Given the description of an element on the screen output the (x, y) to click on. 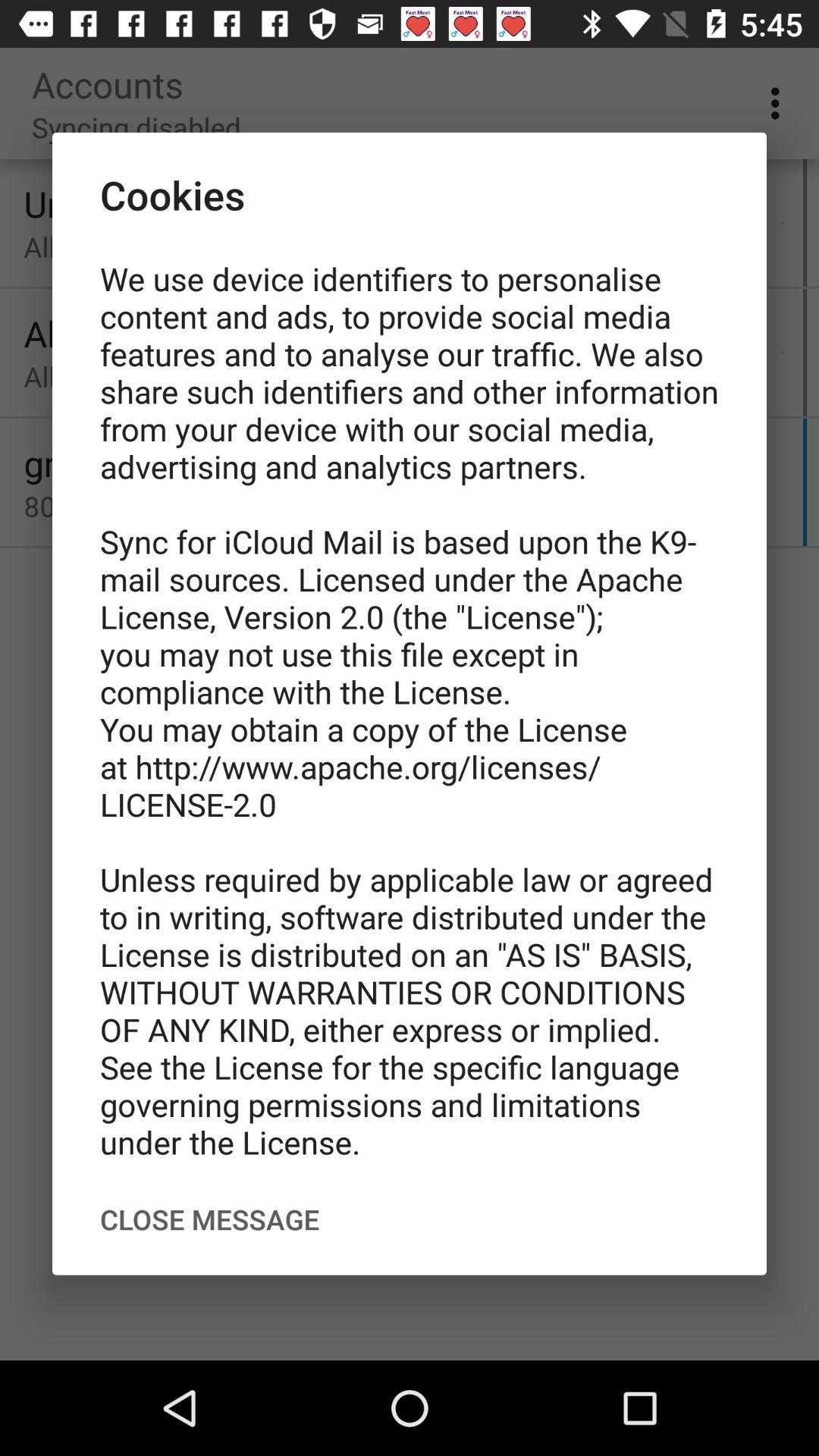
turn on close message at the bottom left corner (209, 1219)
